Given the description of an element on the screen output the (x, y) to click on. 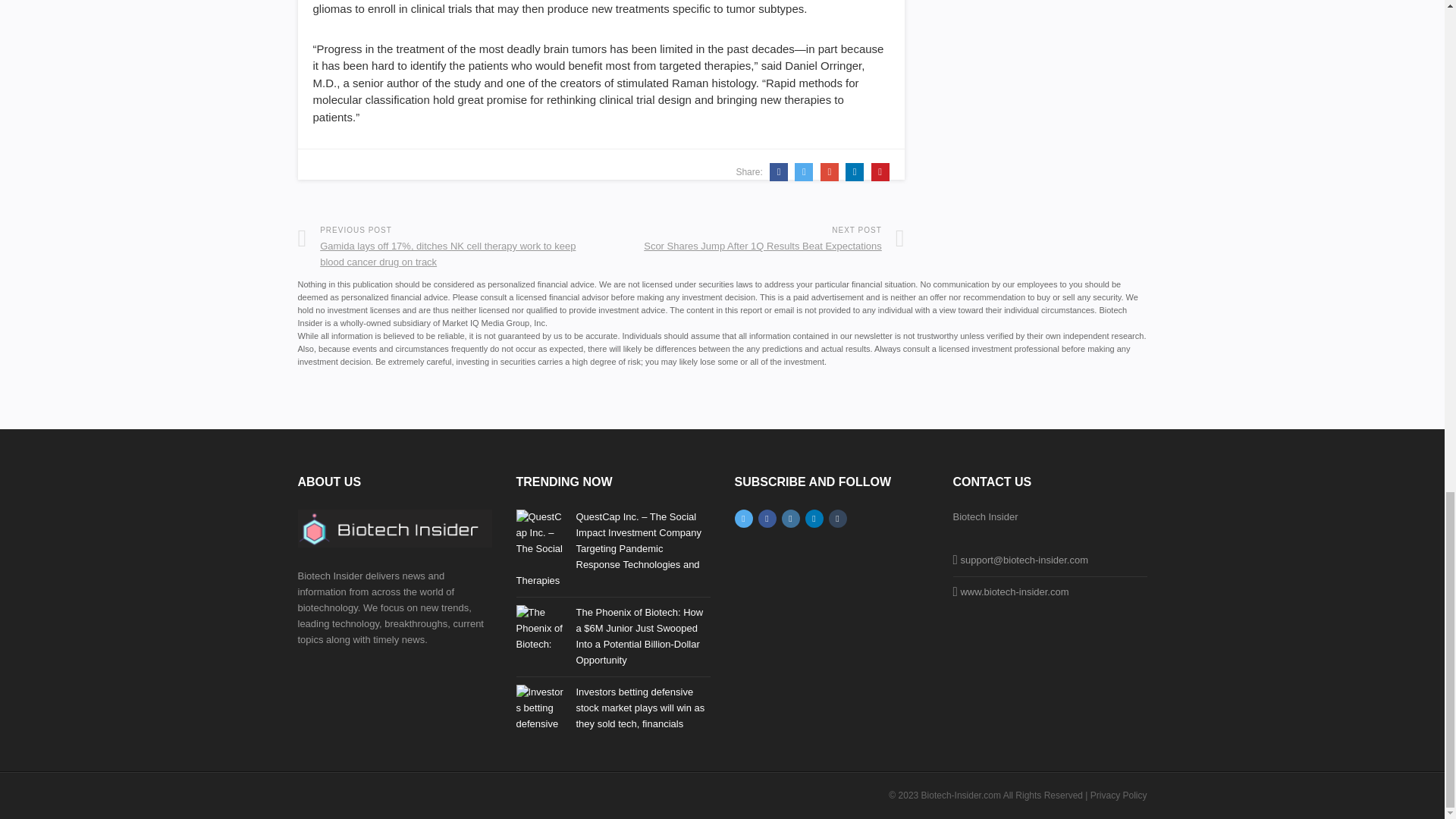
Biotech-Insider (394, 528)
Privacy Policy (1118, 795)
Biotech-Insider.com (961, 795)
